Given the description of an element on the screen output the (x, y) to click on. 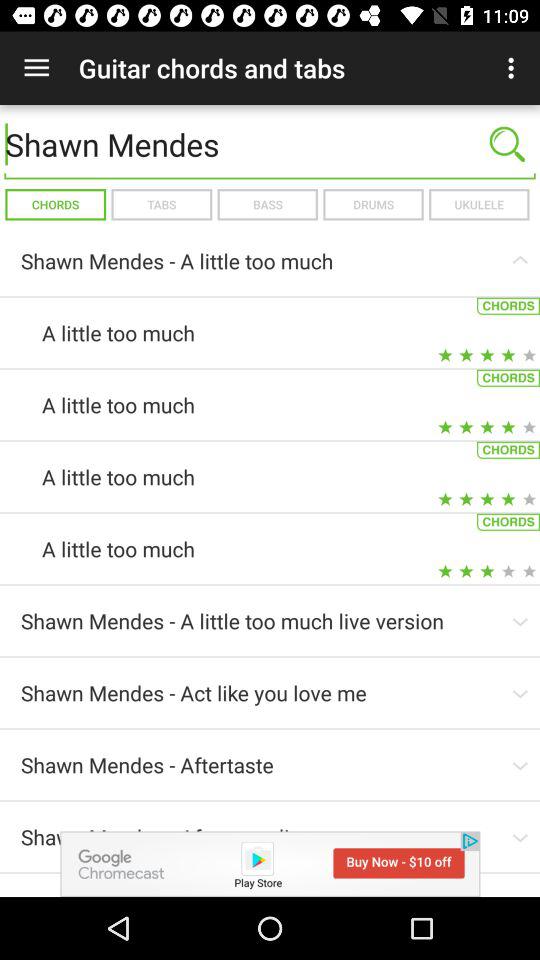
swipe to drums icon (373, 204)
